Given the description of an element on the screen output the (x, y) to click on. 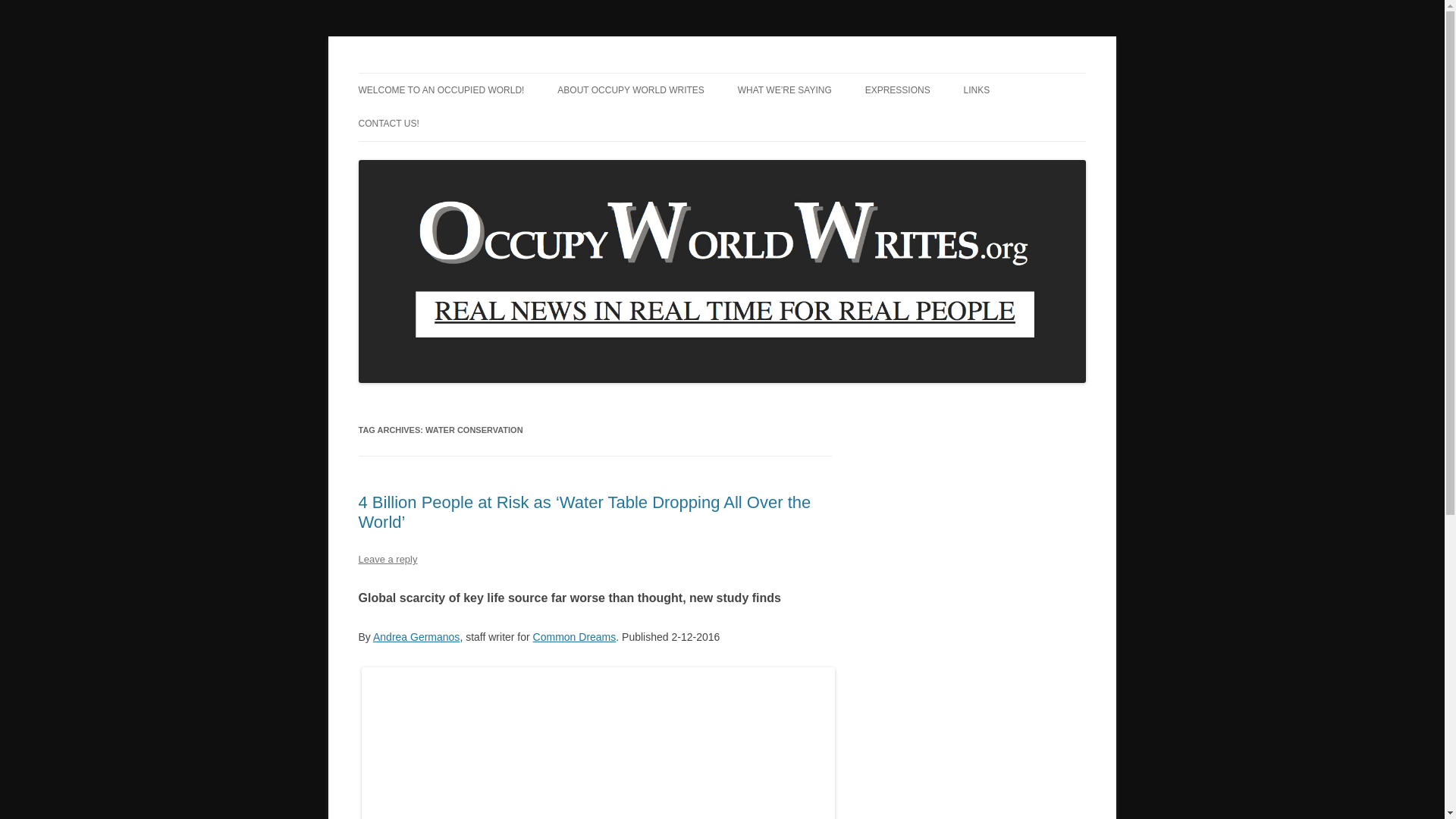
Common Dreams (573, 636)
Leave a reply (387, 559)
Andrea Germanos (416, 636)
CONTACT US! (388, 123)
WELCOME TO AN OCCUPIED WORLD! (441, 90)
Occupy World Writes (457, 72)
EXPRESSIONS (897, 90)
ABOUT OCCUPY WORLD WRITES (630, 90)
